Given the description of an element on the screen output the (x, y) to click on. 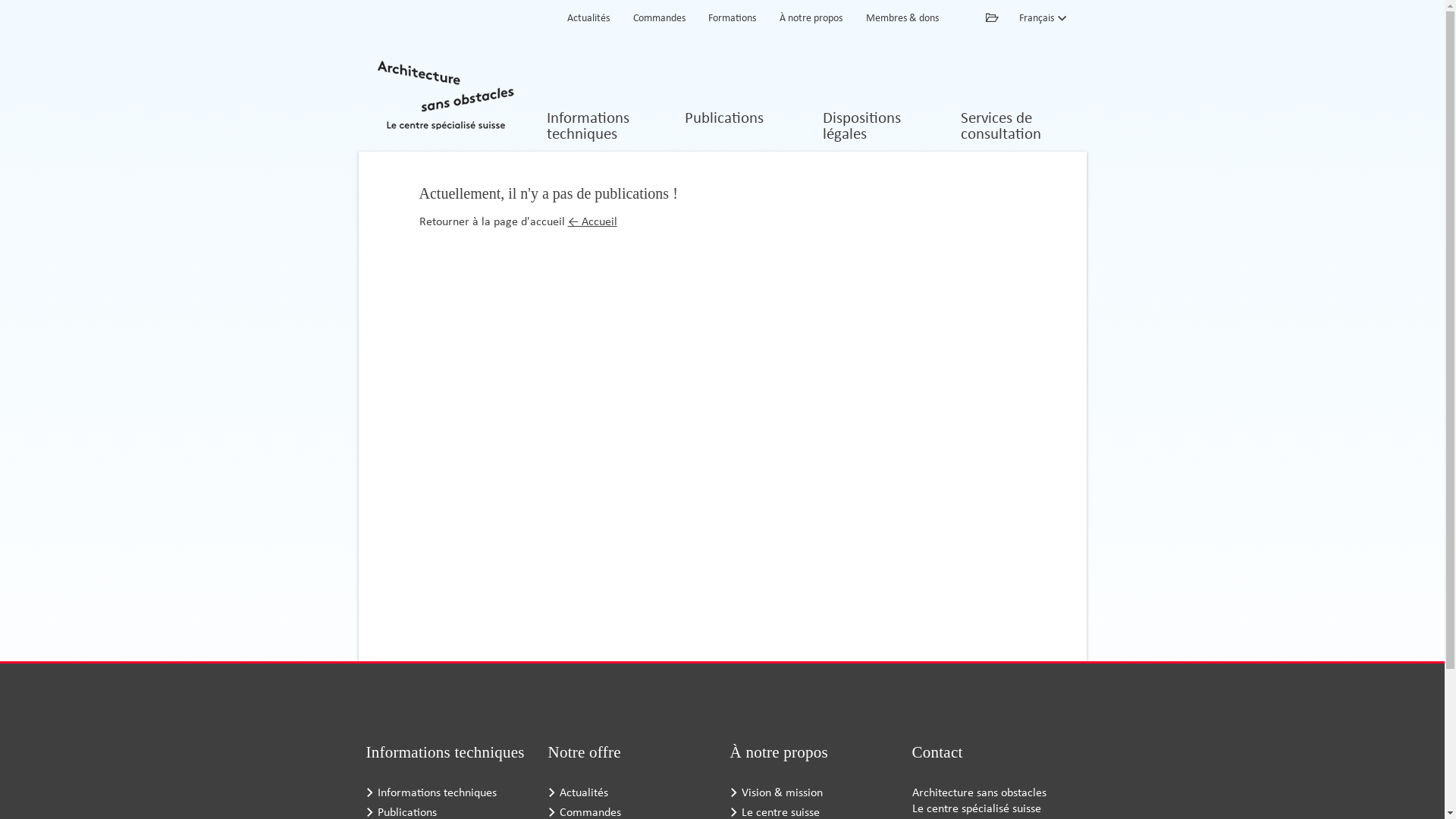
Membres & dons Element type: text (902, 18)
Publications Element type: text (740, 127)
Commandes Element type: text (658, 18)
Vision & mission Element type: text (820, 792)
Informations techniques Element type: text (456, 792)
Services de consultation Element type: text (1016, 127)
Formations Element type: text (731, 18)
Informations techniques Element type: text (602, 127)
